Given the description of an element on the screen output the (x, y) to click on. 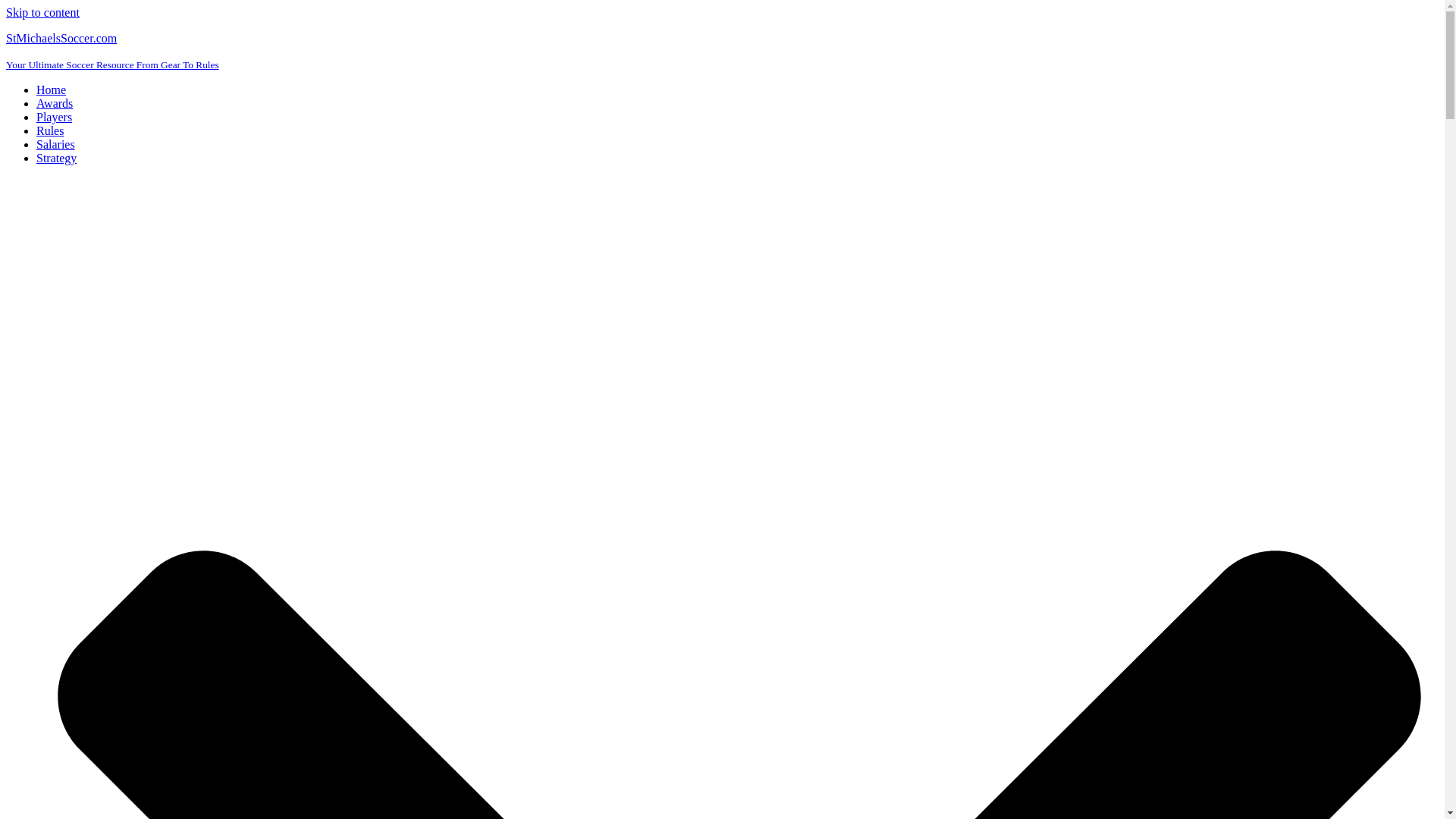
Rules (50, 130)
Awards (54, 103)
Home (50, 89)
Salaries (55, 144)
Skip to content (42, 11)
Players (53, 116)
